Given the description of an element on the screen output the (x, y) to click on. 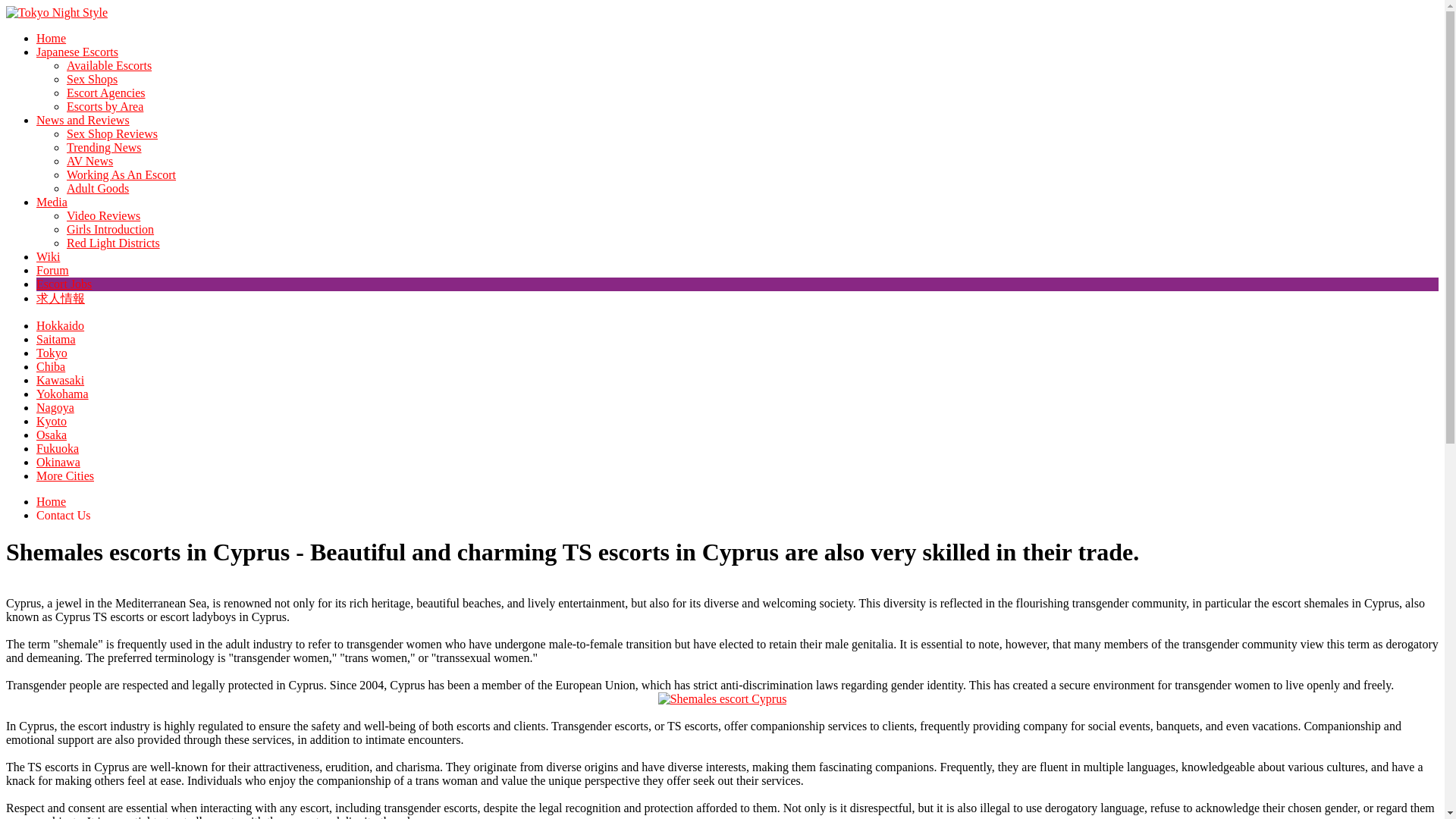
More Cities (65, 475)
Working As An Escort (121, 174)
Osaka (51, 434)
Sex Shop Reviews (111, 133)
Wiki (47, 256)
Home (50, 38)
Nagoya (55, 407)
Red Light Districts (113, 242)
Escorts by Area (104, 106)
Adult Goods (97, 187)
